Given the description of an element on the screen output the (x, y) to click on. 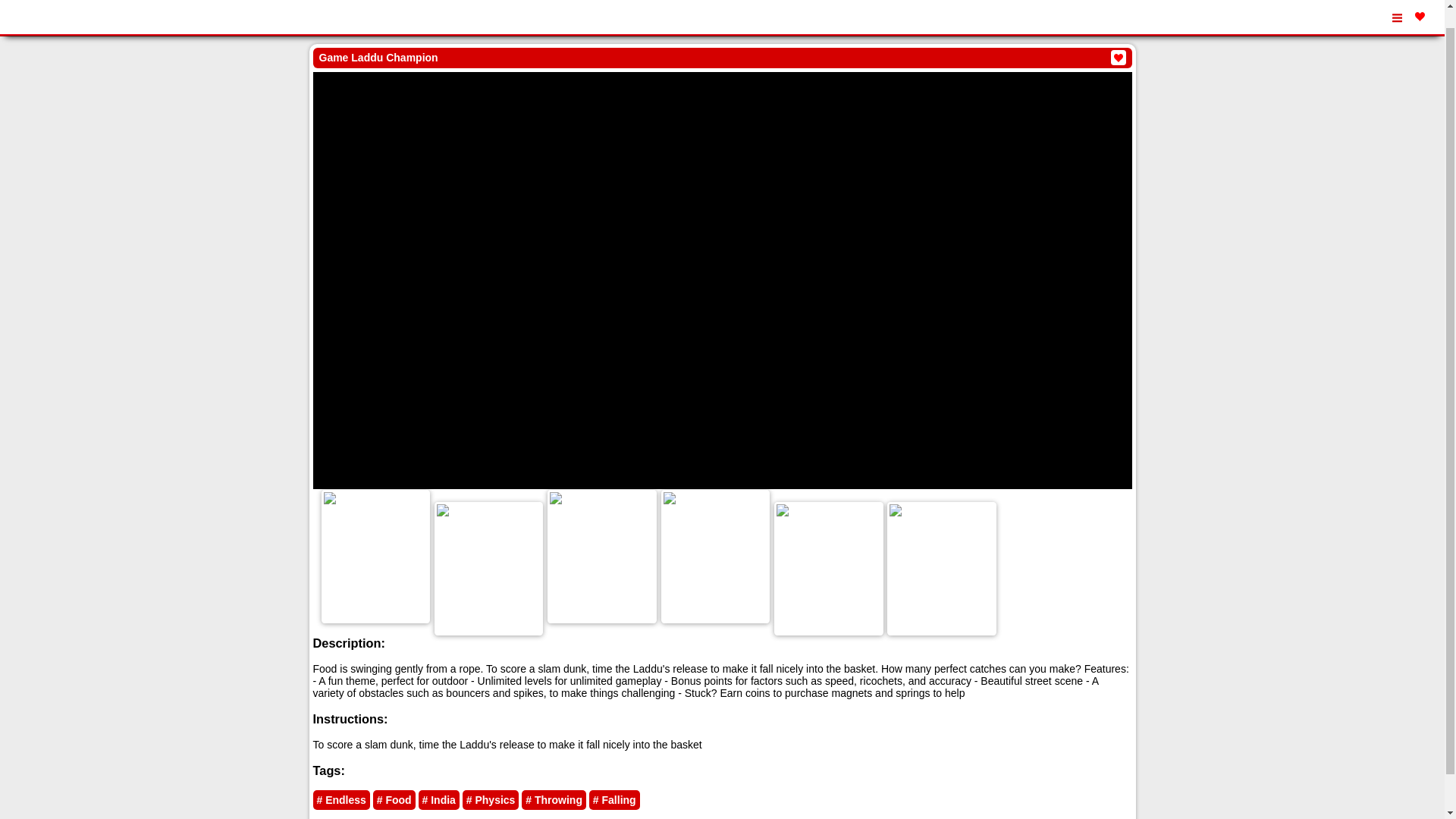
Games (25, 25)
Arcade (73, 25)
Free games (79, 6)
Sports (122, 25)
